Given the description of an element on the screen output the (x, y) to click on. 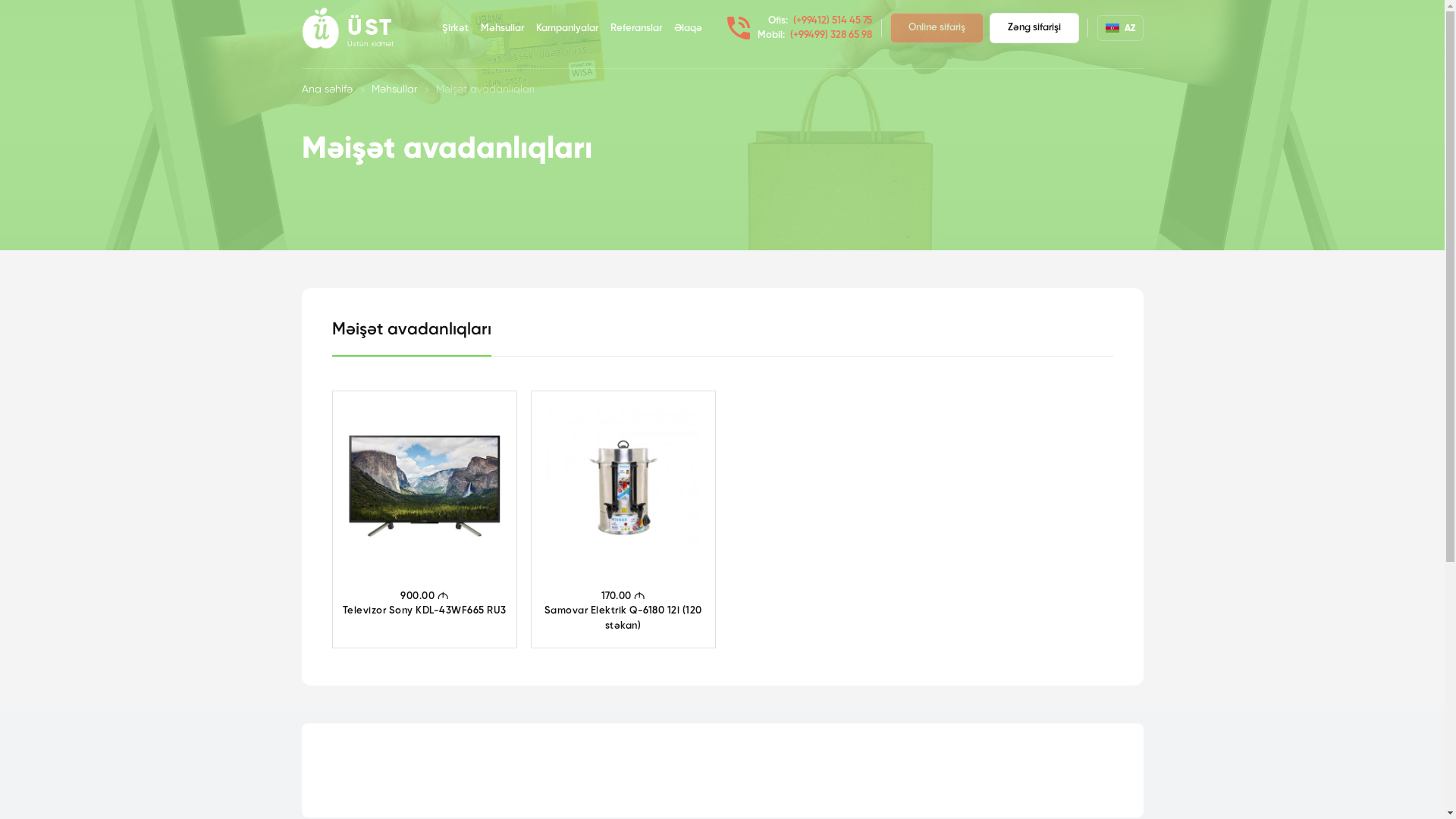
Kampaniyalar Element type: text (566, 28)
900.00 M
Televizor Sony KDL-43WF665 RU3 Element type: text (423, 508)
(+99412) 514 45 75 Element type: text (832, 20)
(+99499) 328 65 98 Element type: text (831, 35)
Referanslar Element type: text (635, 28)
